Given the description of an element on the screen output the (x, y) to click on. 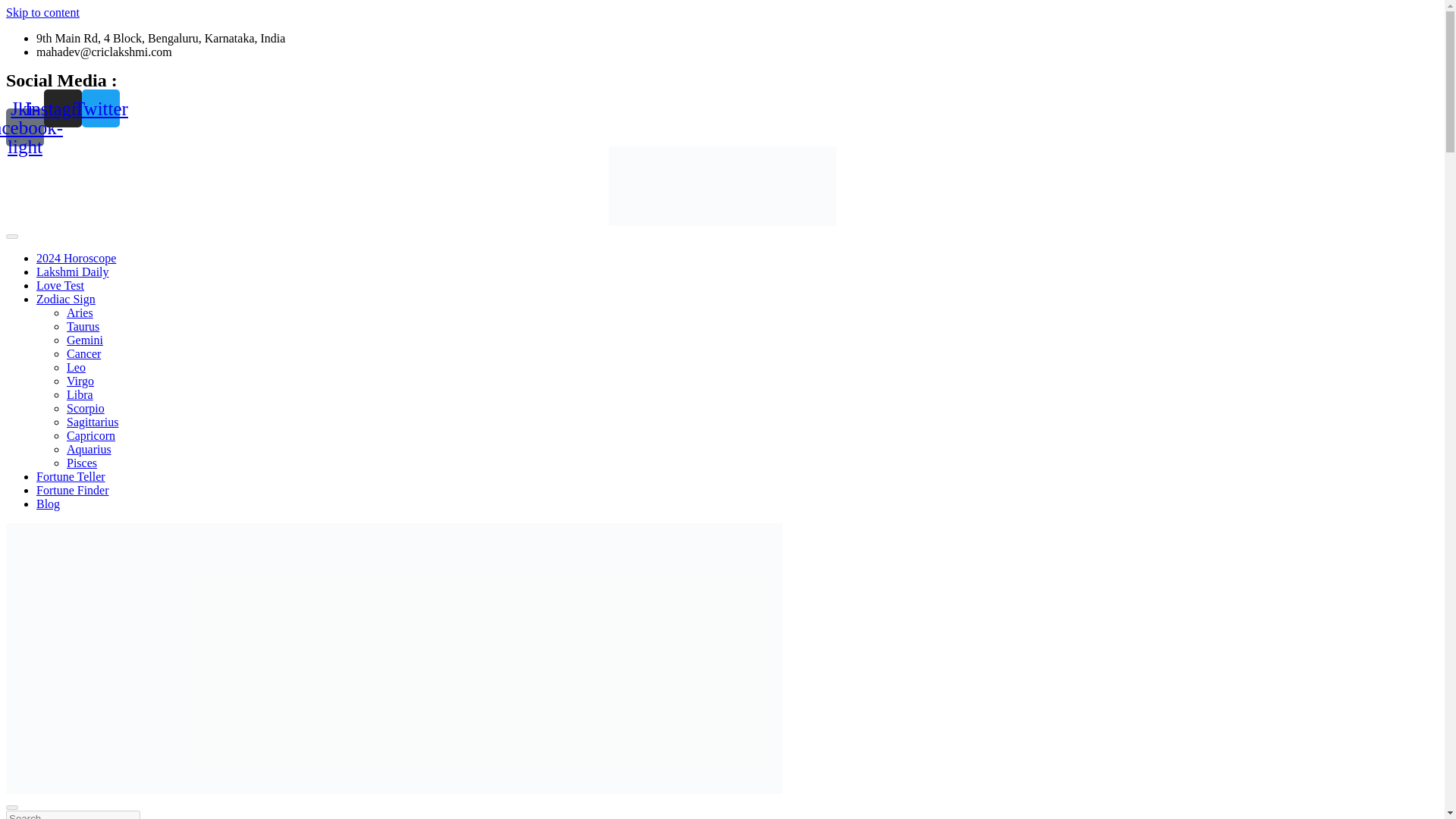
Capricorn (90, 435)
Taurus (82, 326)
Pisces (81, 462)
Libra (79, 394)
Fortune Teller (70, 476)
Aquarius (89, 449)
Aries (79, 312)
Instagram (62, 108)
Lakshmi Daily (72, 271)
Love Test (60, 285)
Jki-facebook-light (24, 127)
Sagittarius (91, 421)
Gemini (84, 339)
Blog (47, 503)
Leo (75, 367)
